Given the description of an element on the screen output the (x, y) to click on. 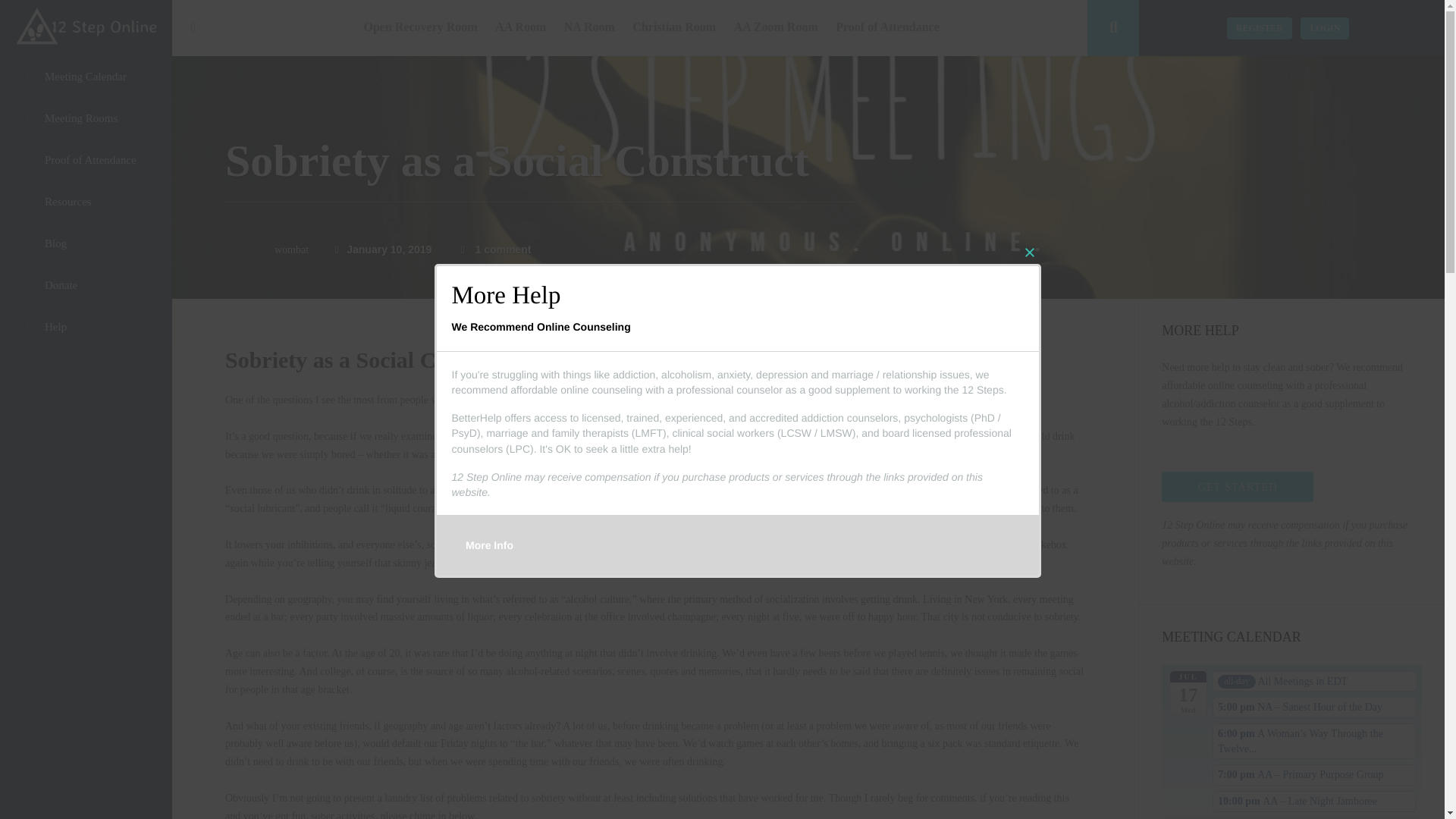
Donate (85, 285)
LOGIN (1324, 27)
Christian Room (673, 28)
AA Room (520, 28)
View all posts by wombat (291, 249)
Proof of Attendance (887, 28)
Open Recovery Room (419, 28)
Search (1112, 28)
NA Room (589, 28)
Help (85, 327)
Menu (193, 27)
AA Zoom Room (775, 28)
Blog (85, 243)
REGISTER (1259, 27)
Resources (85, 201)
